Given the description of an element on the screen output the (x, y) to click on. 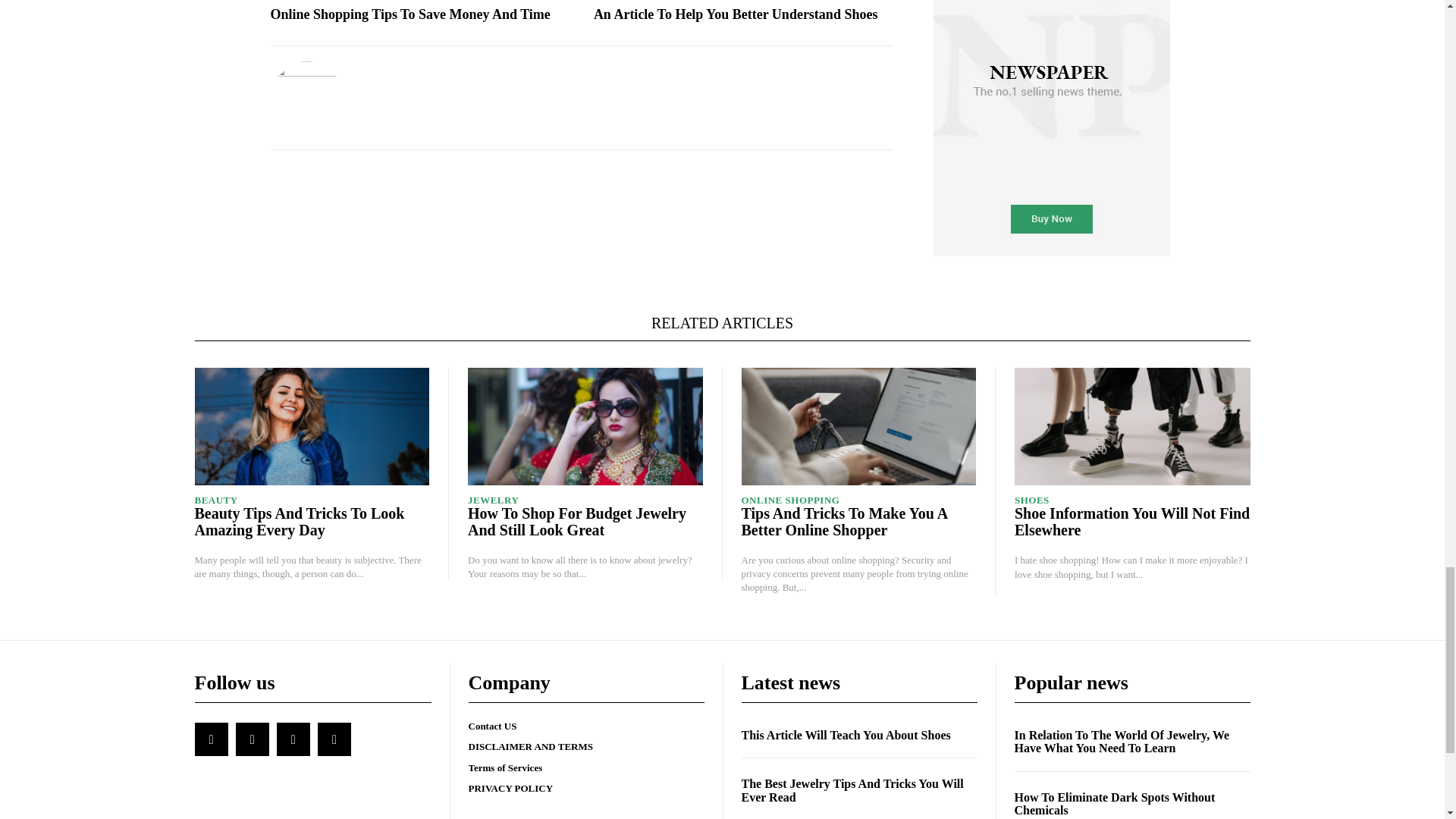
An Article To Help You Better Understand Shoes (735, 14)
Online Shopping Tips To Save Money And Time (409, 14)
